Given the description of an element on the screen output the (x, y) to click on. 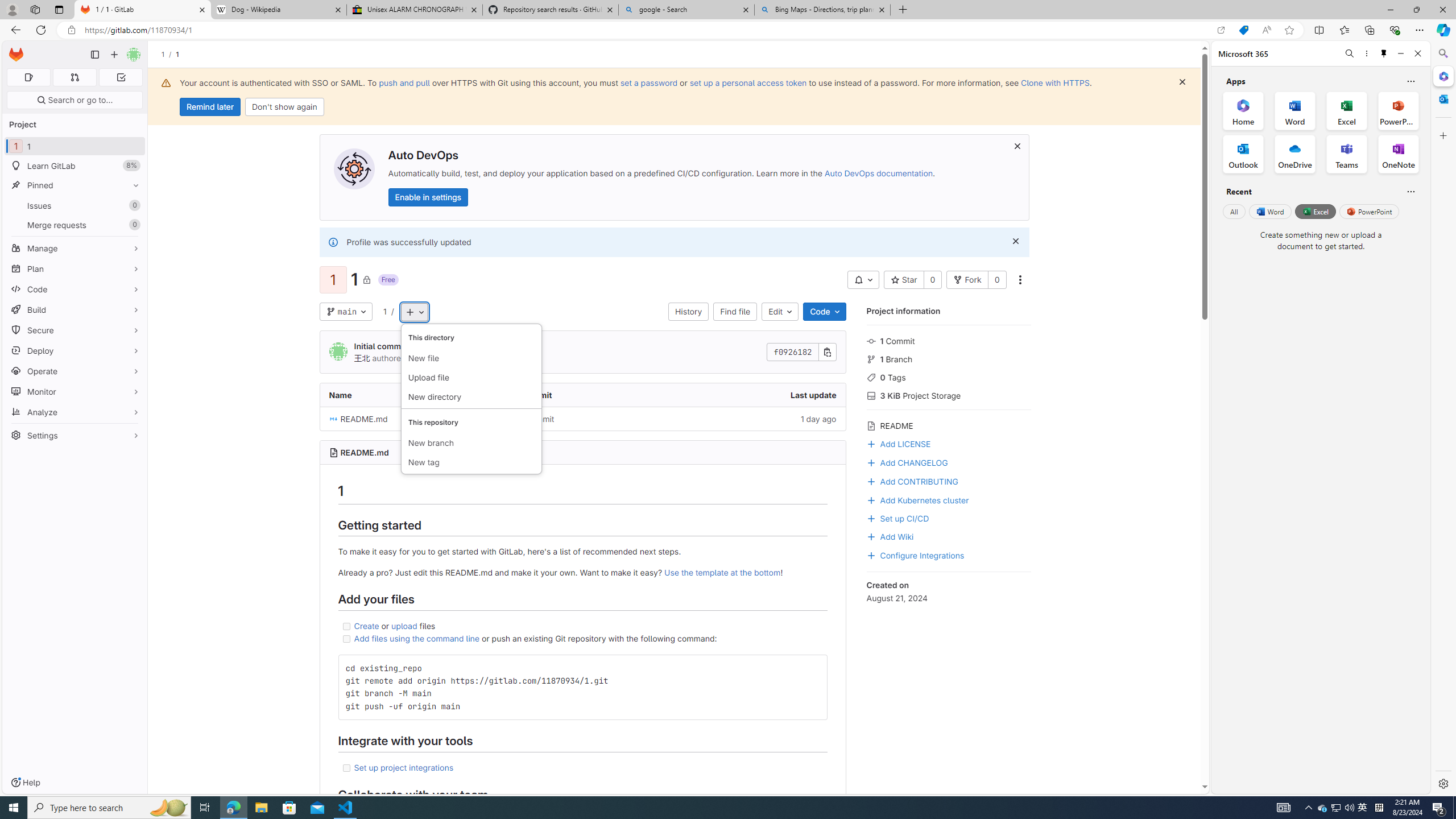
0 Tags (948, 376)
README.md (364, 452)
set up a personal access token (747, 82)
Add files using the command line (416, 638)
Excel Office App (1346, 110)
Manage (74, 248)
To-Do list 0 (120, 76)
Class: s16 gl-mr-3 (871, 536)
Edit (780, 311)
0 Tags (948, 376)
Deploy (74, 350)
1 1 (74, 145)
